Given the description of an element on the screen output the (x, y) to click on. 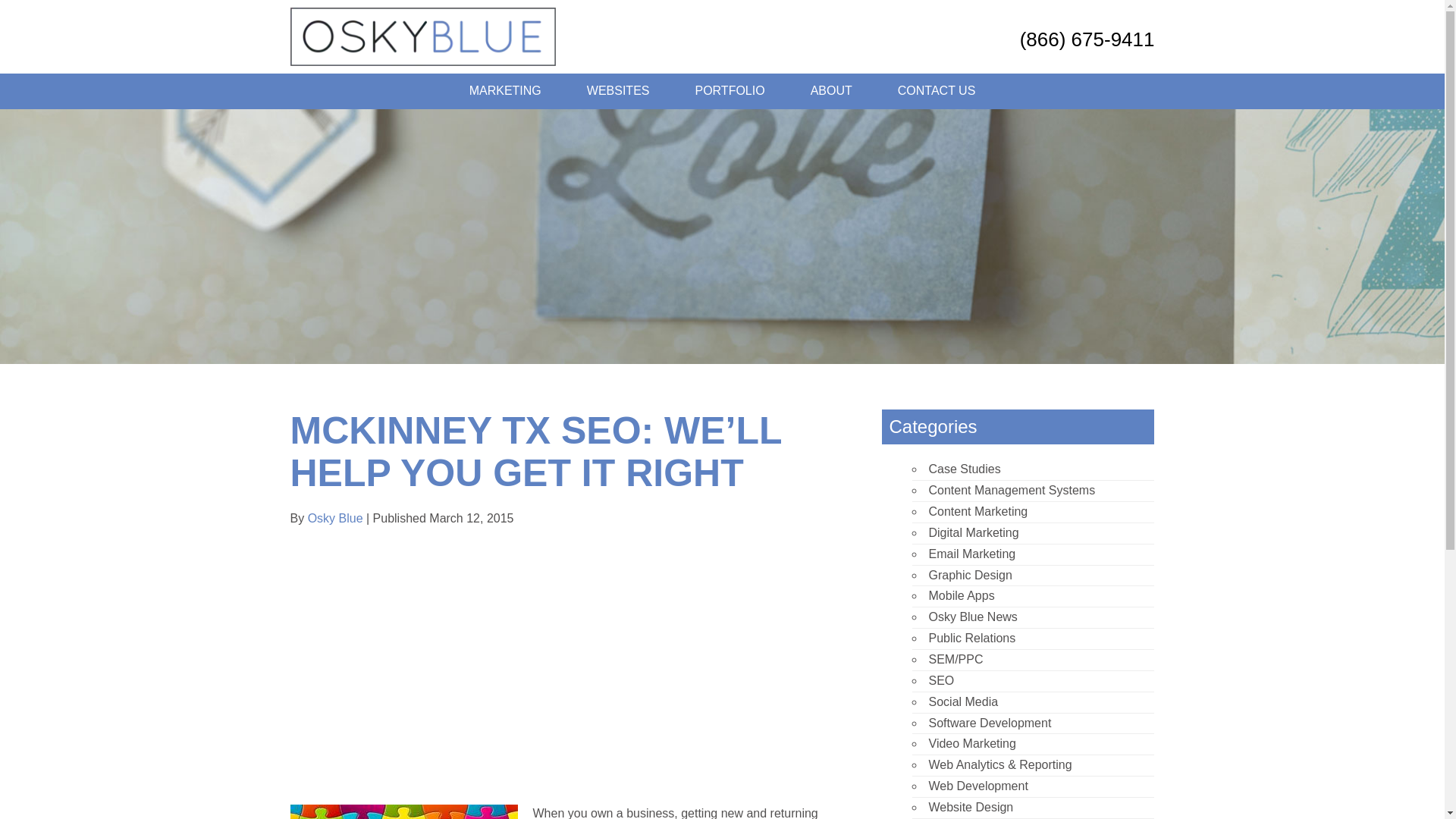
Content Marketing (977, 511)
WEBSITES (618, 90)
MARKETING (505, 90)
CONTACT US (936, 90)
McKinney TX SEO (402, 811)
Graphic Design (969, 574)
Digital Marketing (972, 532)
Content Management Systems (1011, 490)
Case Studies (964, 468)
PORTFOLIO (729, 90)
Email Marketing (971, 553)
ABOUT (831, 90)
Posts by Osky Blue (334, 517)
Osky Blue (334, 517)
